Given the description of an element on the screen output the (x, y) to click on. 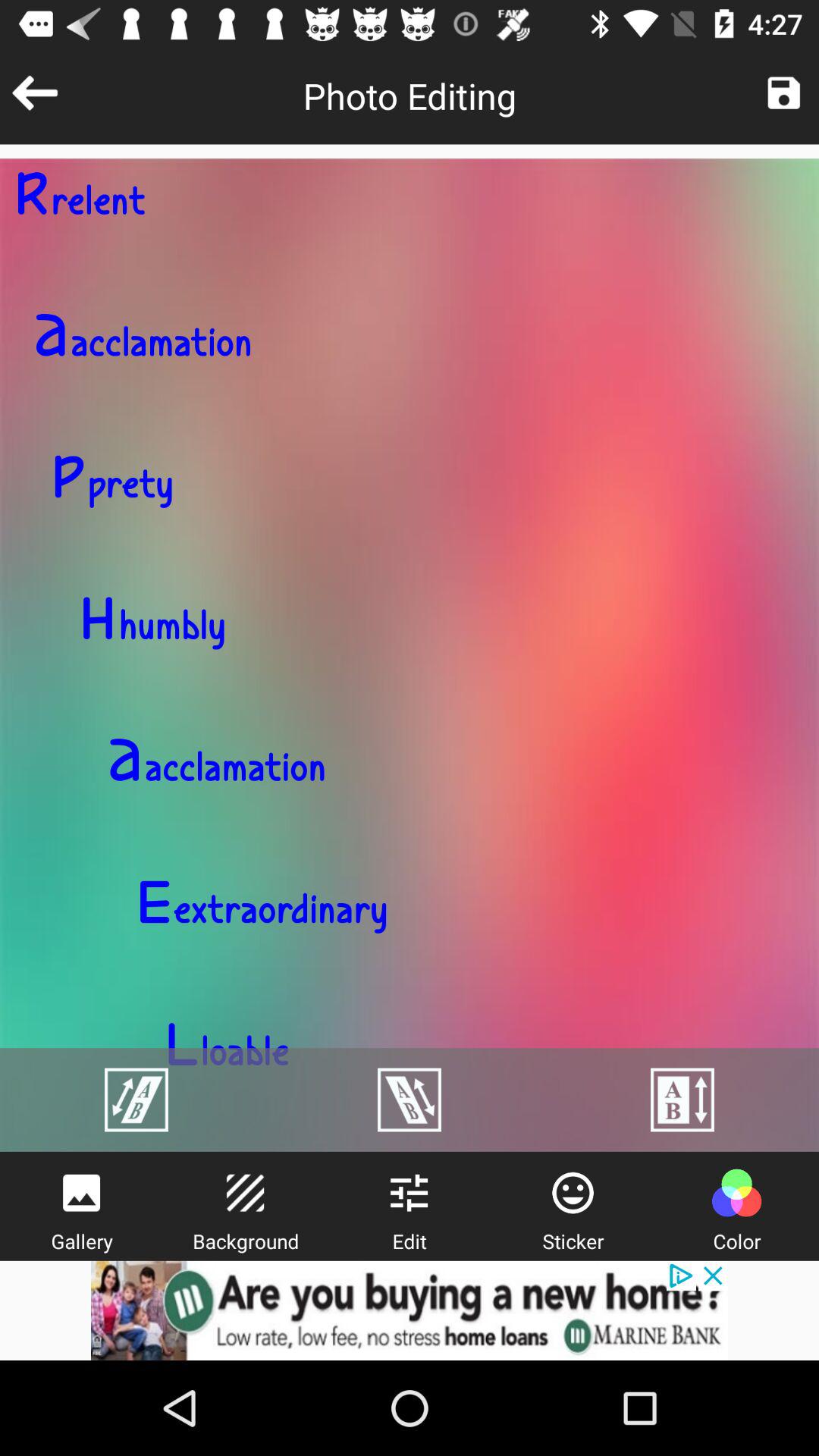
sticker button (572, 1192)
